Given the description of an element on the screen output the (x, y) to click on. 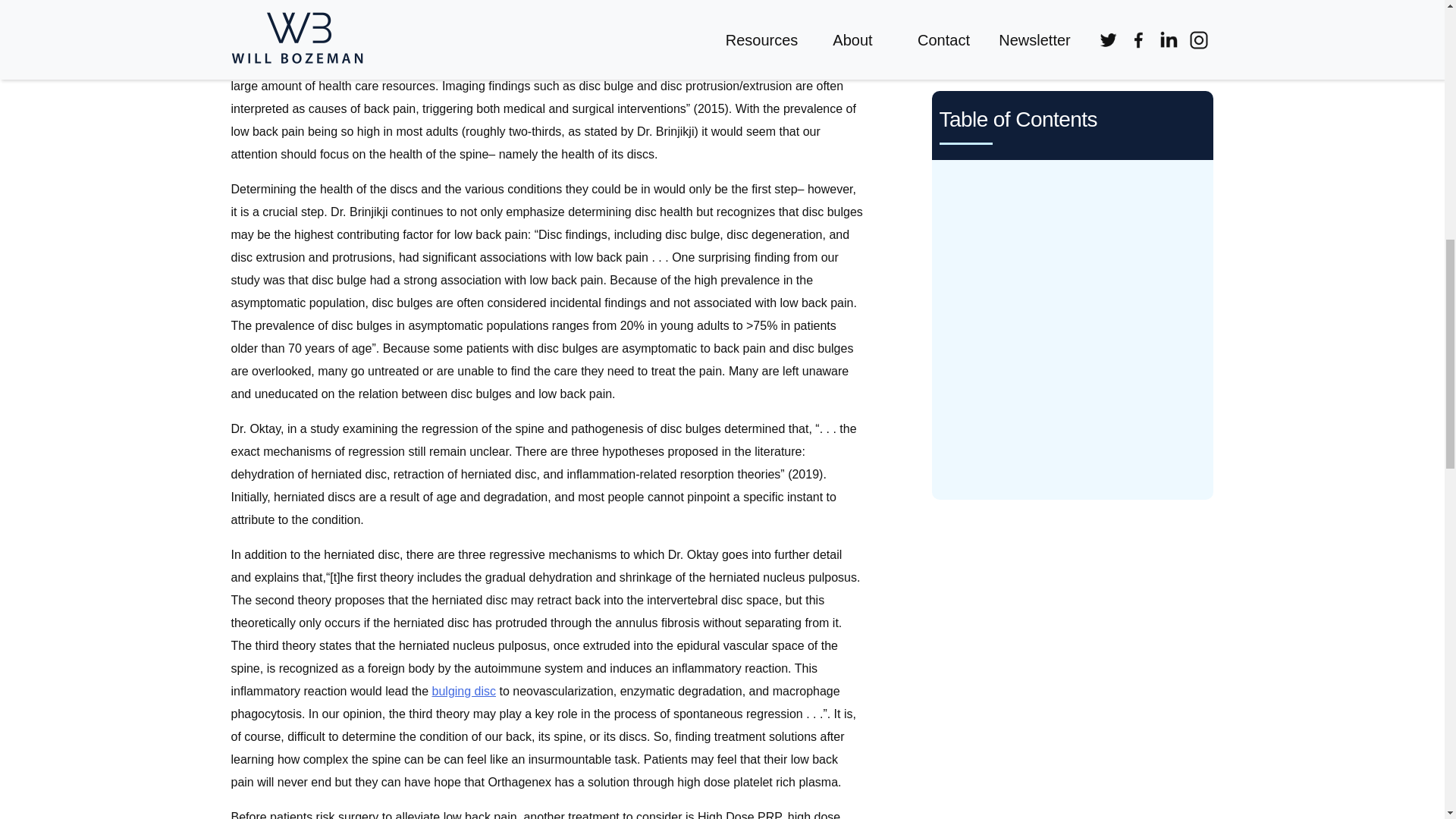
bulging disc (464, 690)
